Given the description of an element on the screen output the (x, y) to click on. 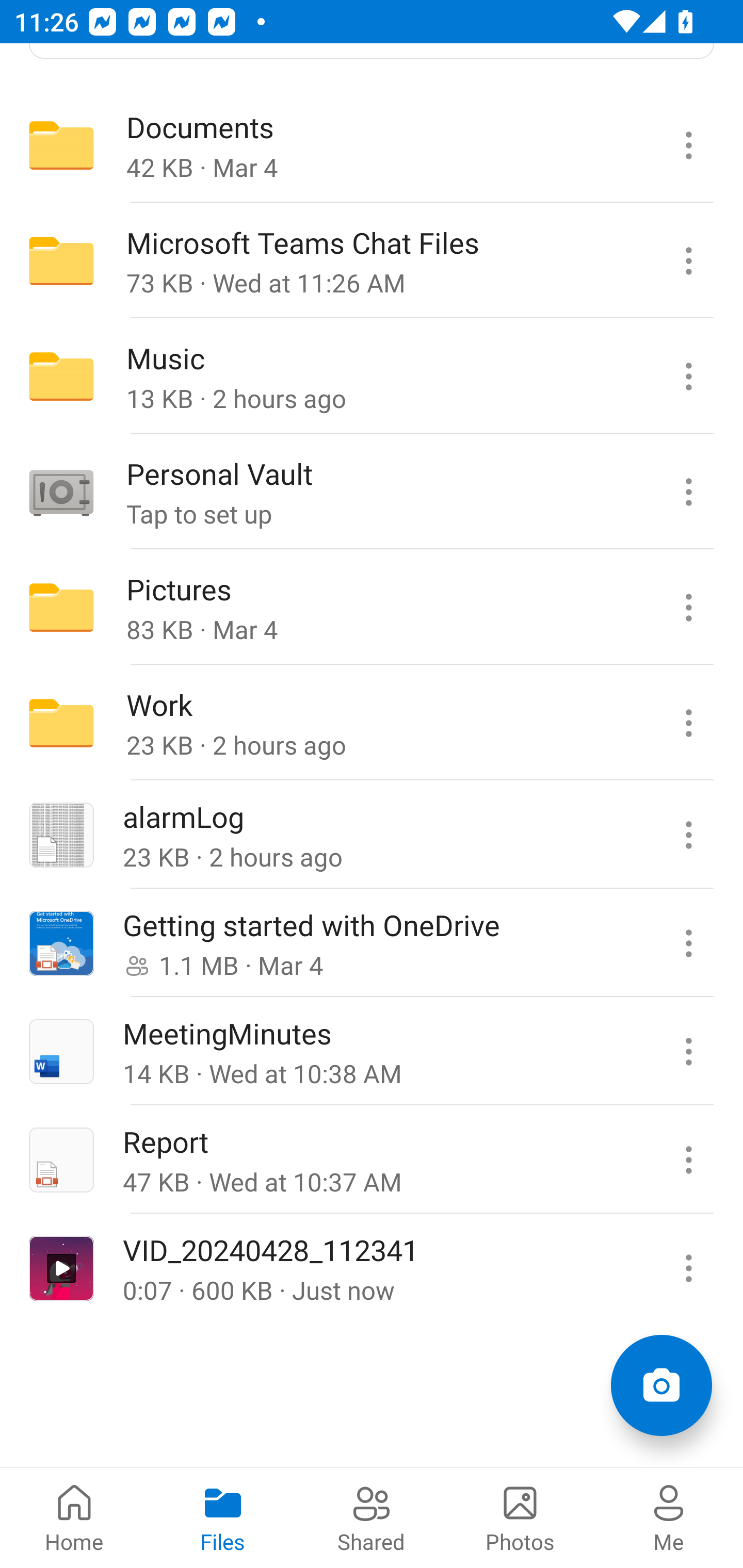
Folder Documents 42 KB · Mar 4 Documents commands (371, 145)
Documents commands (688, 145)
Microsoft Teams Chat Files commands (688, 260)
Folder Music 13 KB · 2 hours ago Music commands (371, 376)
Music commands (688, 376)
Personal Vault commands (688, 492)
Folder Pictures 83 KB · Mar 4 Pictures commands (371, 607)
Pictures commands (688, 607)
Folder Work 23 KB · 2 hours ago Work commands (371, 722)
Work commands (688, 722)
alarmLog commands (688, 834)
Getting started with OneDrive commands (688, 943)
MeetingMinutes commands (688, 1051)
Report commands (688, 1159)
VID_20240428_112341 commands (688, 1267)
Add items Scan (660, 1385)
Home pivot Home (74, 1517)
Shared pivot Shared (371, 1517)
Photos pivot Photos (519, 1517)
Me pivot Me (668, 1517)
